Given the description of an element on the screen output the (x, y) to click on. 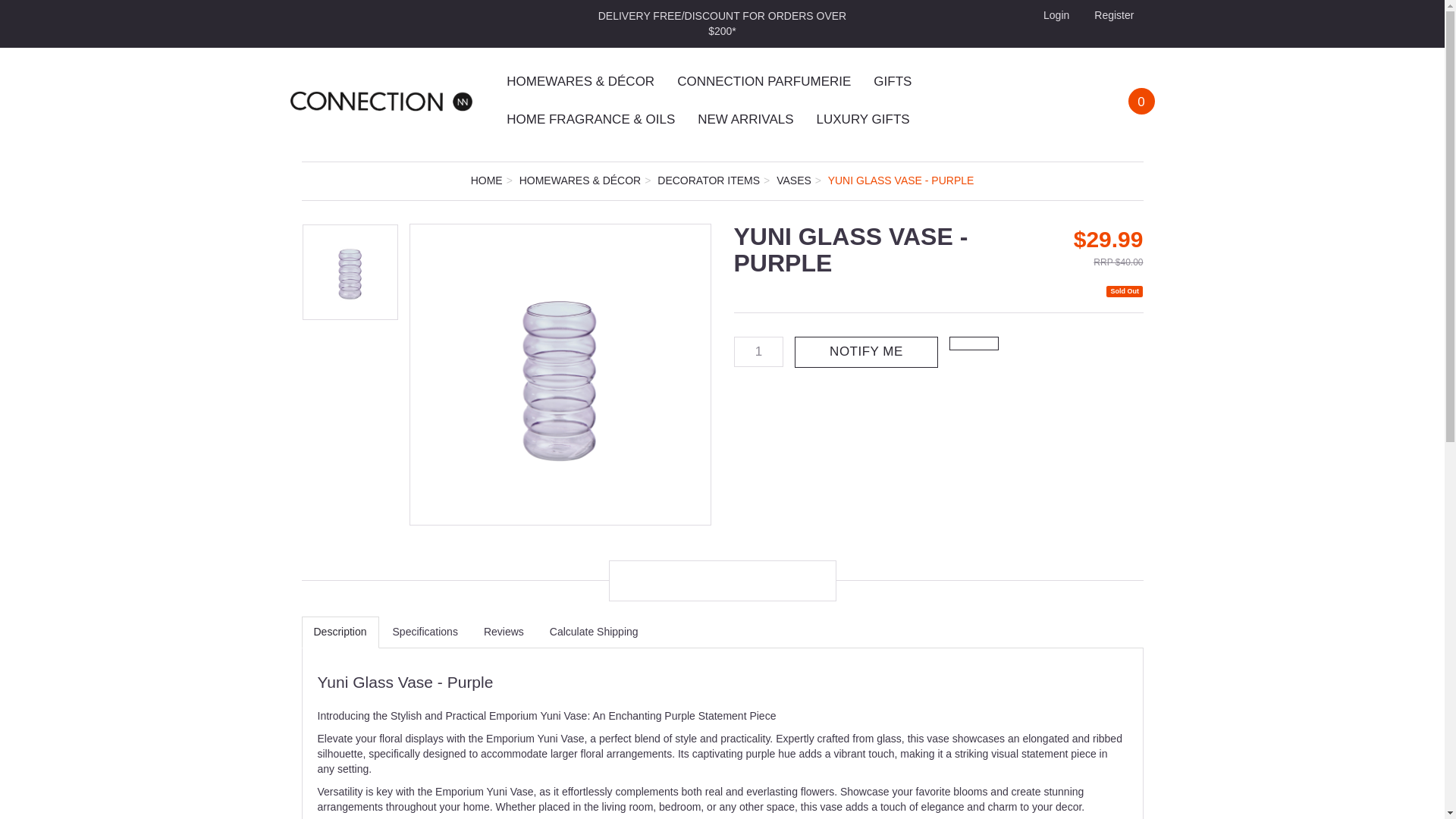
1 (758, 351)
Register (1112, 15)
Login (1054, 15)
Login (1054, 15)
Connection (380, 99)
Large View (560, 374)
Register (1112, 15)
